Given the description of an element on the screen output the (x, y) to click on. 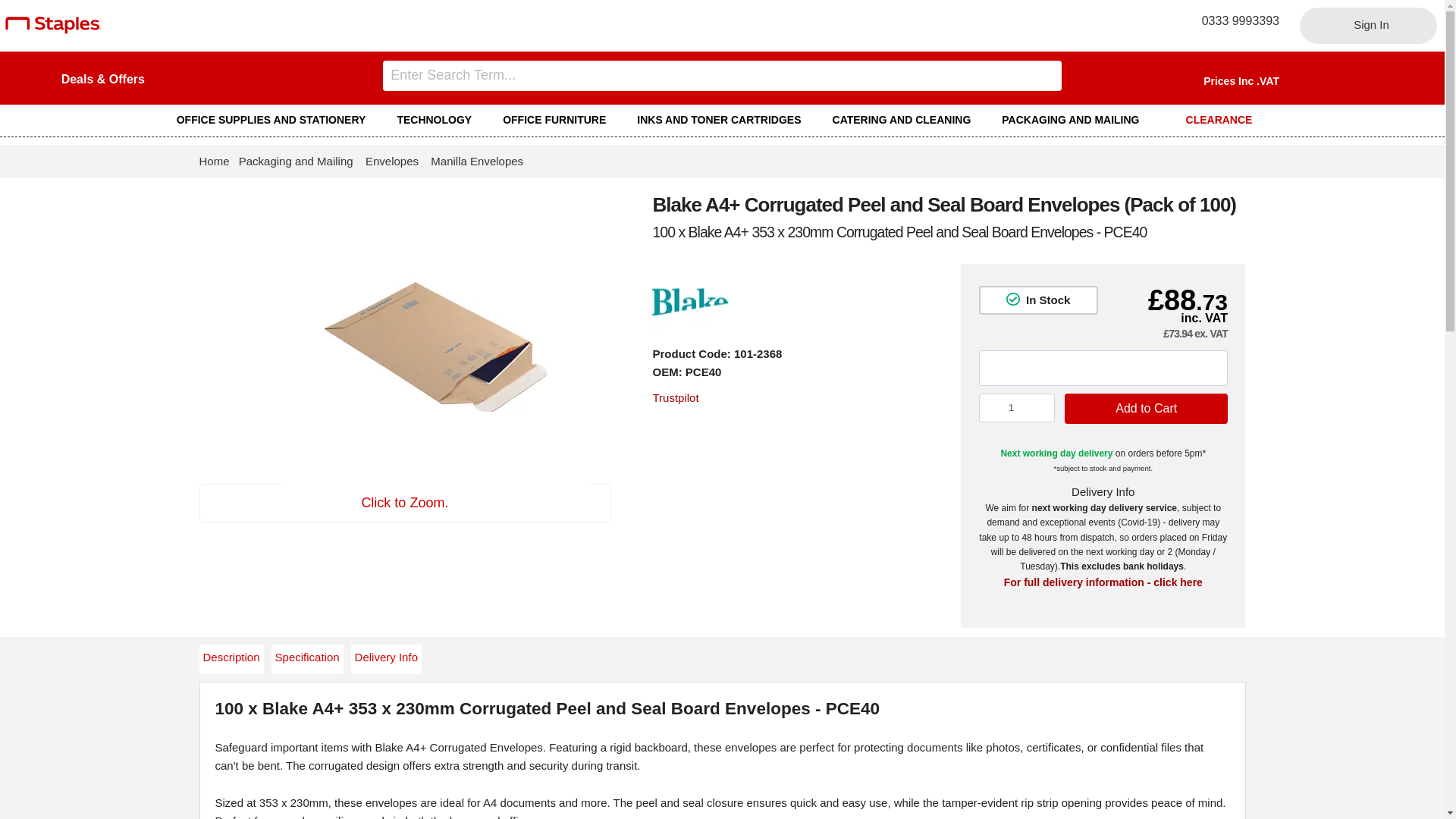
Office Supplies and Stationery Category (277, 119)
Telephone: 0333 9993393 (1235, 20)
Coupon Corner (102, 78)
1 (1016, 407)
Prices Inc .VAT (1241, 80)
Staples.co.uk (53, 30)
 0333 9993393 (1235, 20)
OFFICE SUPPLIES AND STATIONERY (277, 119)
Type keyword or product code (721, 75)
